Given the description of an element on the screen output the (x, y) to click on. 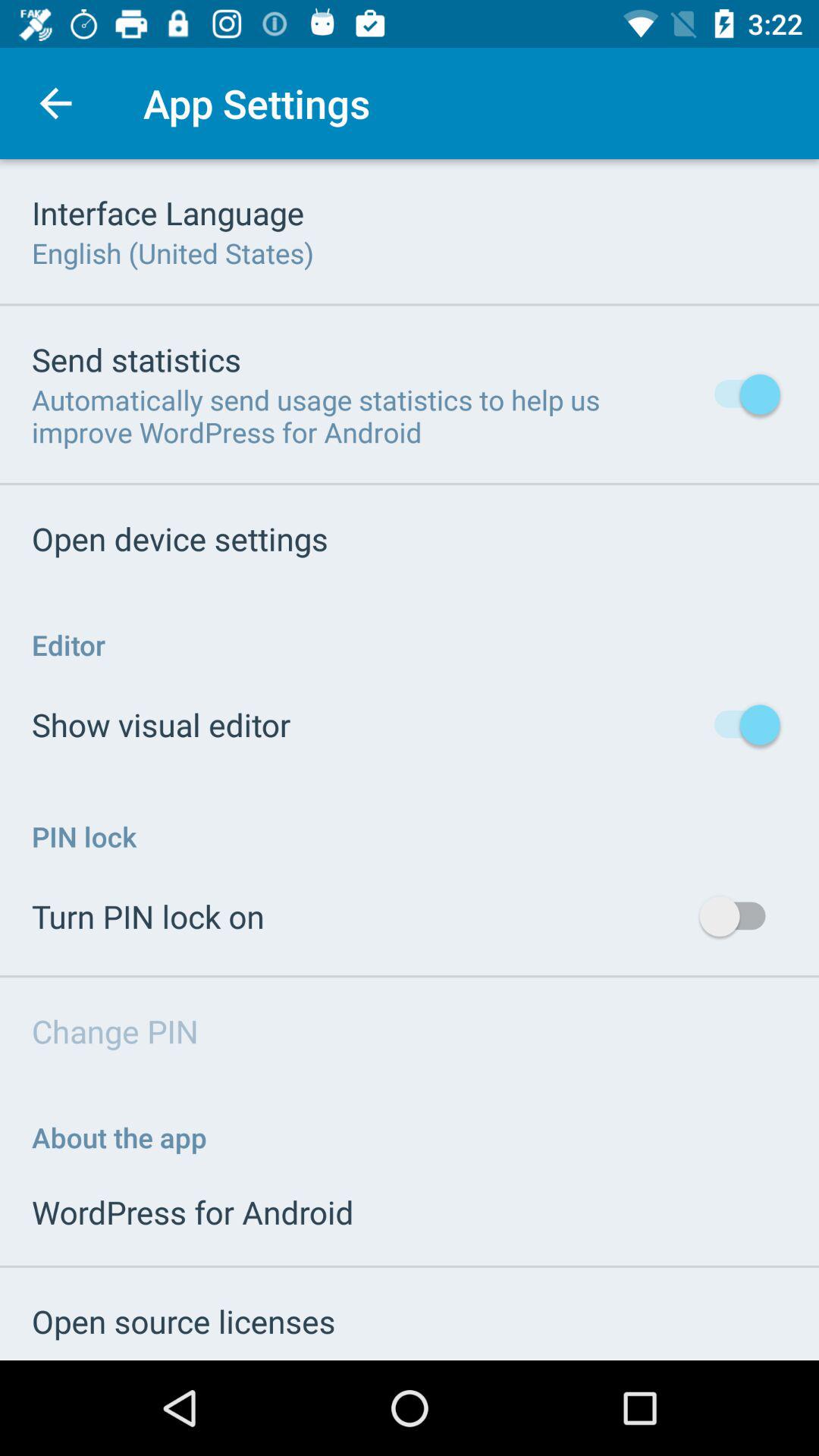
change your app settings (409, 759)
